Given the description of an element on the screen output the (x, y) to click on. 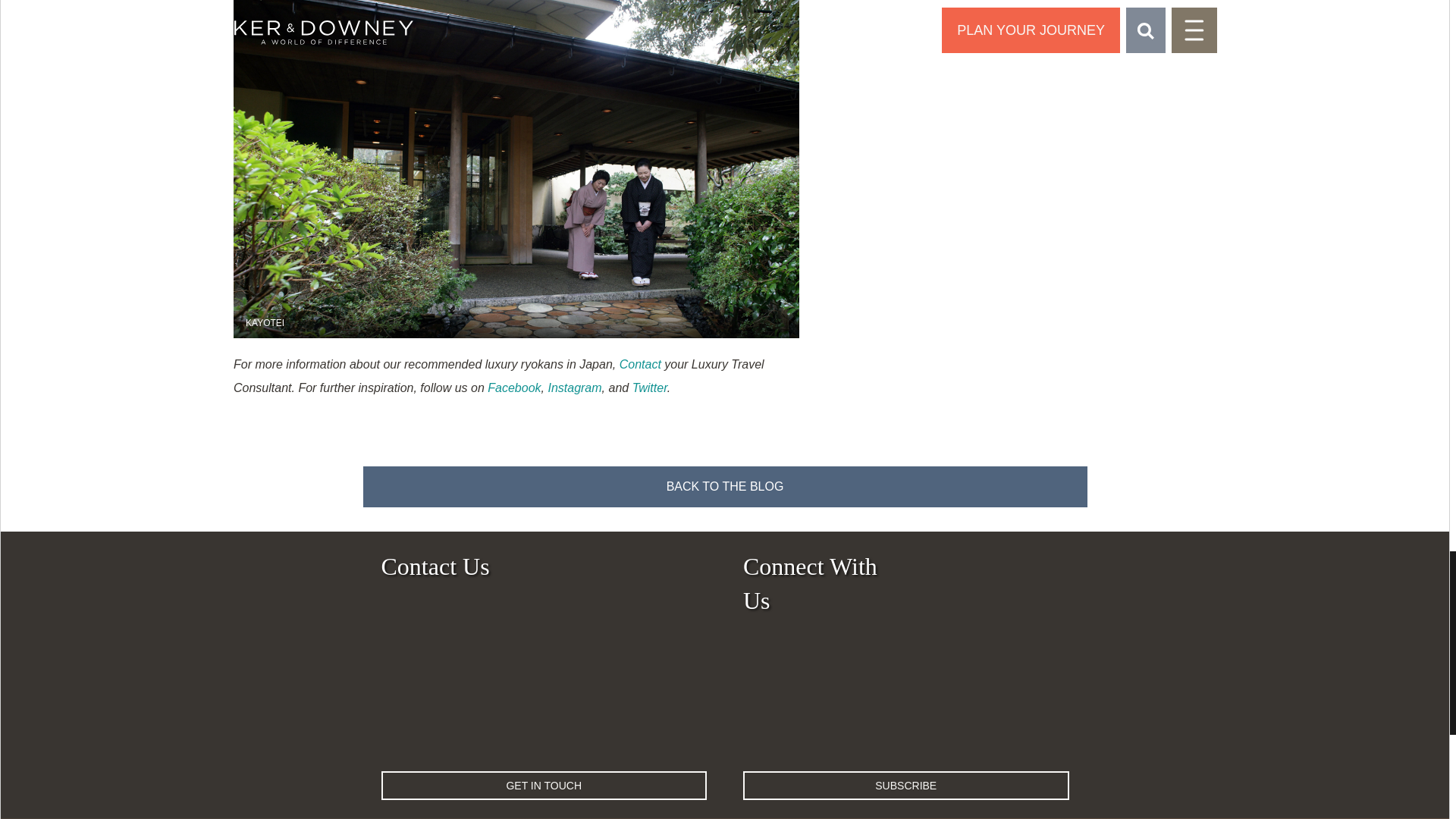
Blog (724, 486)
